Given the description of an element on the screen output the (x, y) to click on. 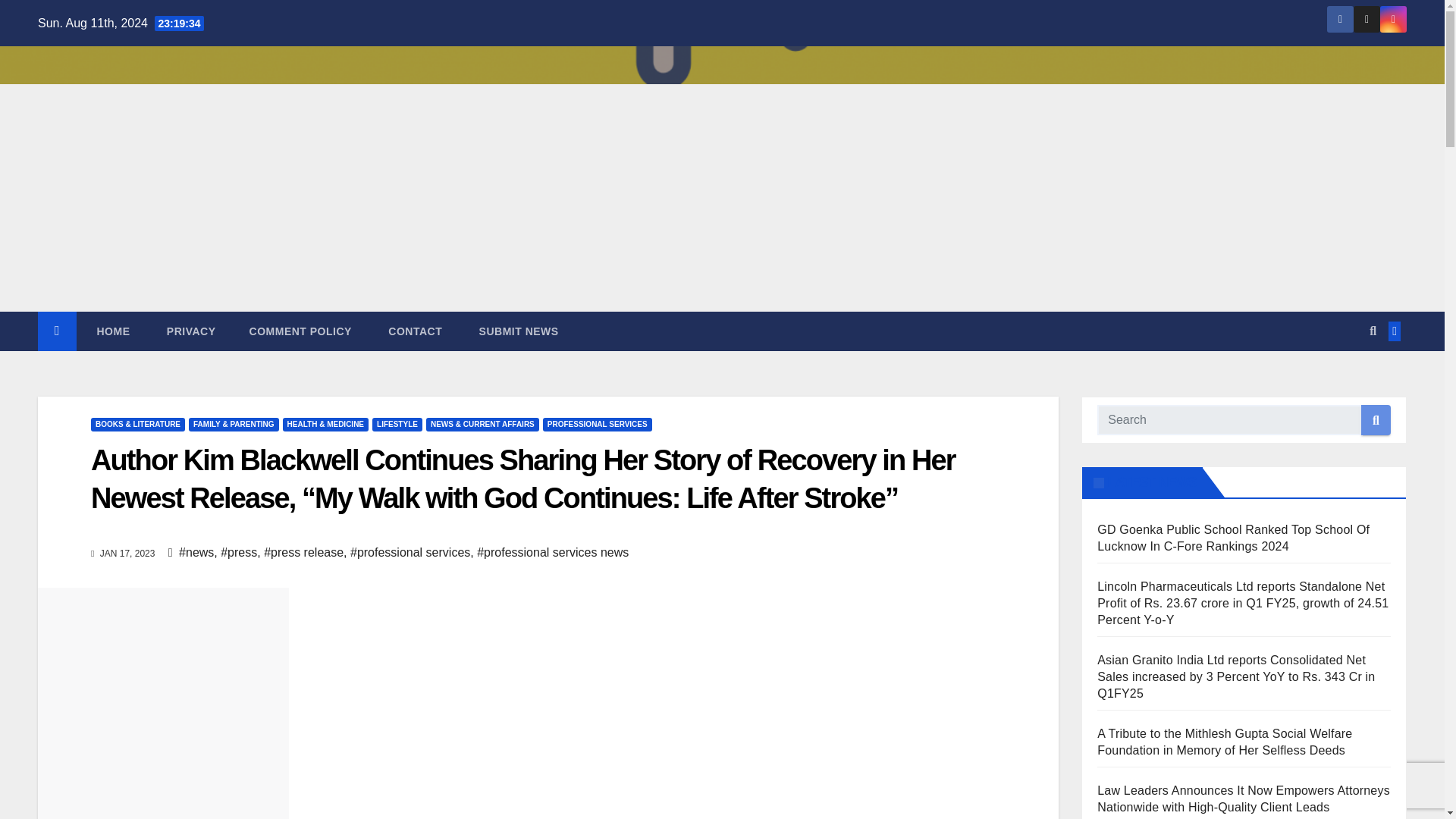
Comment Policy (300, 331)
Privacy Policy (189, 331)
 HOME (112, 331)
COMMENT POLICY (300, 331)
LIFESTYLE (397, 424)
 CONTACT (413, 331)
PressRelease.cc (112, 331)
Submit Your Press Release (516, 331)
 PRIVACY (189, 331)
